Given the description of an element on the screen output the (x, y) to click on. 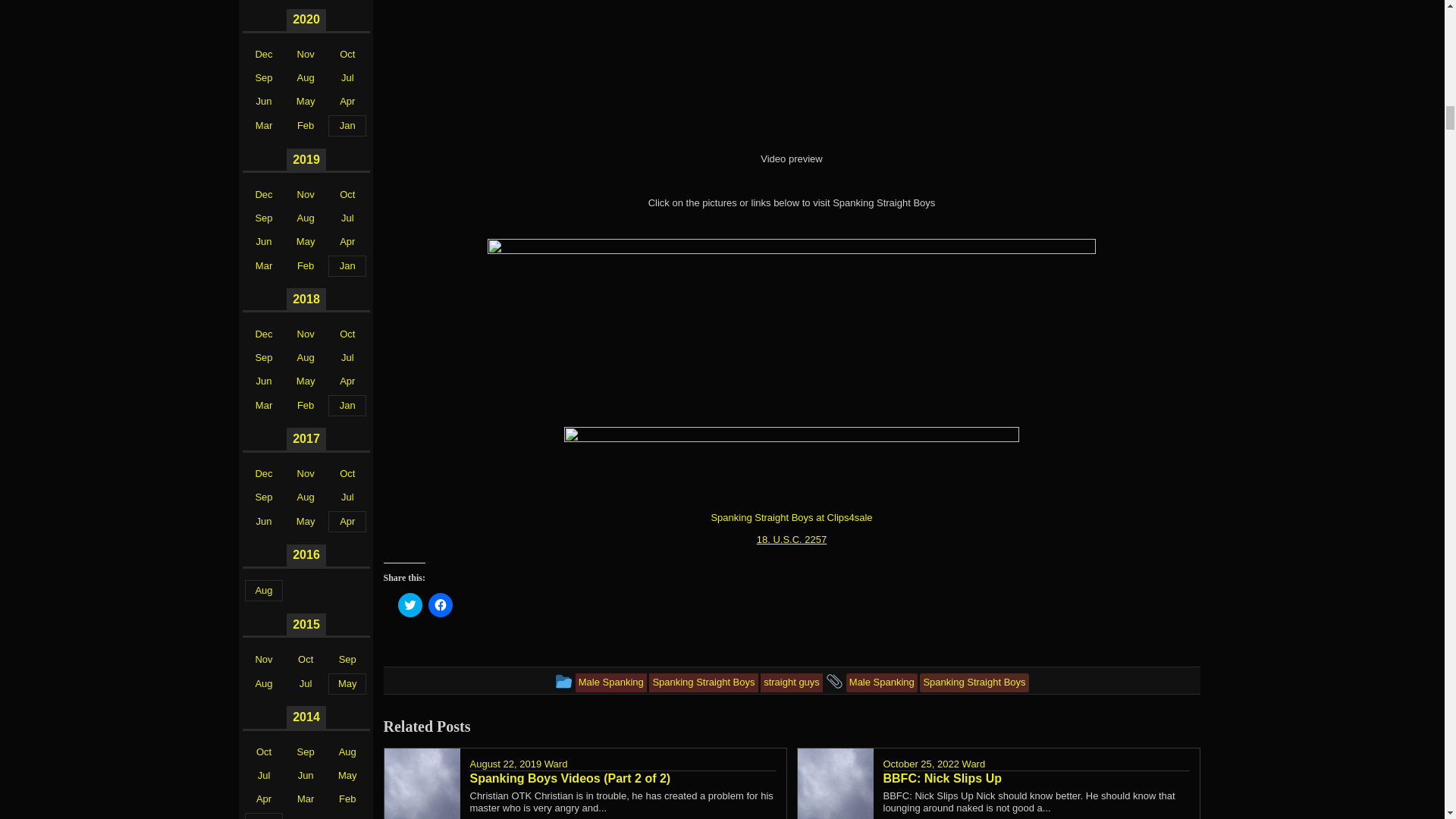
18. U.S.C. 2257 (792, 539)
Spanking Straight Boys (703, 681)
Spanking Straight Boys at Clips4sale (791, 517)
BBFC: Nick Slips Up (1035, 778)
October 25, 2022 (920, 763)
Ward (973, 763)
Male Spanking (881, 681)
Male Spanking (610, 681)
straight guys (791, 681)
Ward (555, 763)
Spanking Straight Boys (973, 681)
August 22, 2019 (505, 763)
